Given the description of an element on the screen output the (x, y) to click on. 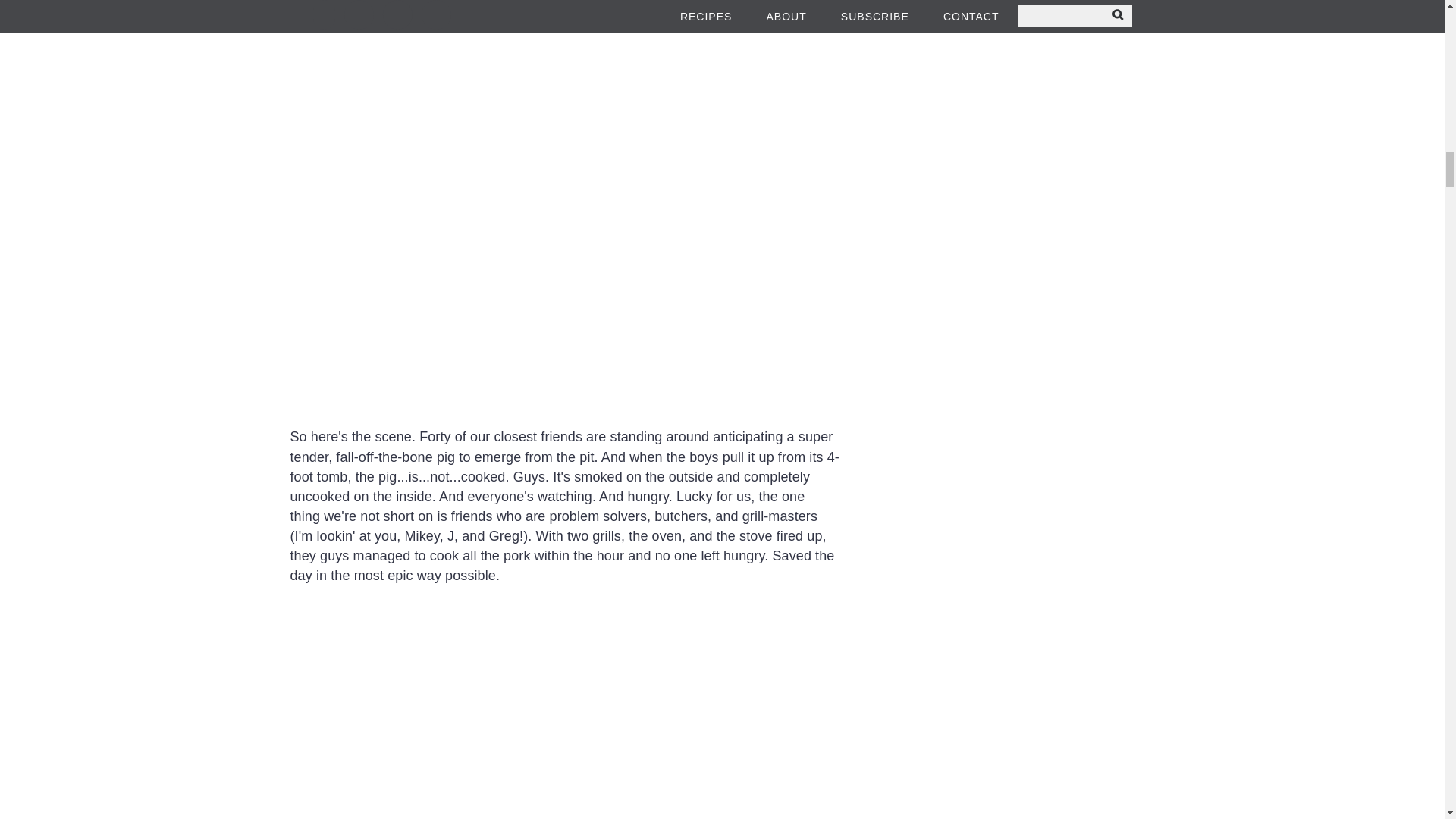
Backyard Pig Roast (565, 711)
